Given the description of an element on the screen output the (x, y) to click on. 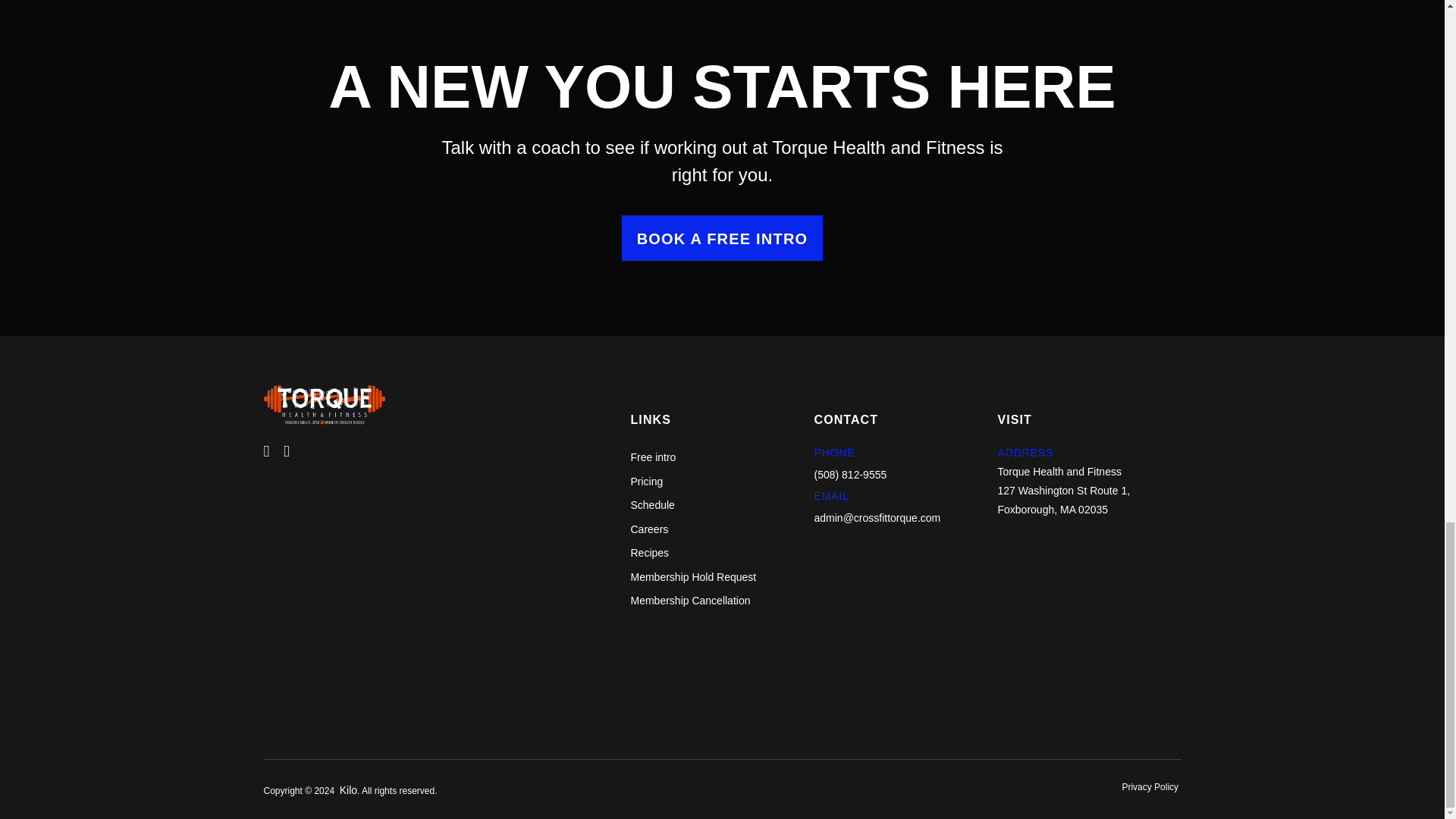
BOOK A FREE INTRO (722, 238)
